Given the description of an element on the screen output the (x, y) to click on. 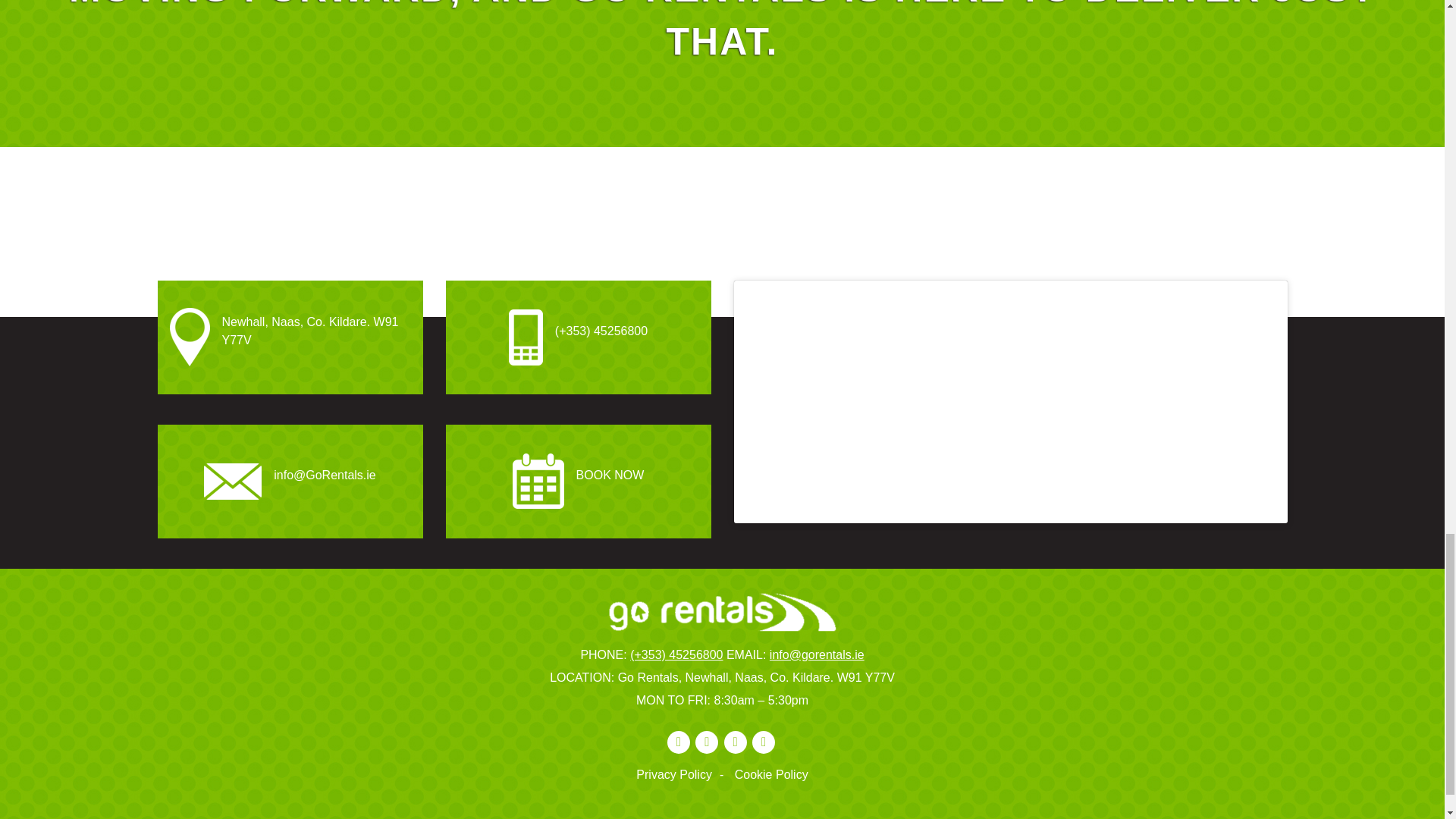
Privacy Policy (683, 774)
BOOK NOW (578, 481)
Cookie Policy (771, 774)
